Given the description of an element on the screen output the (x, y) to click on. 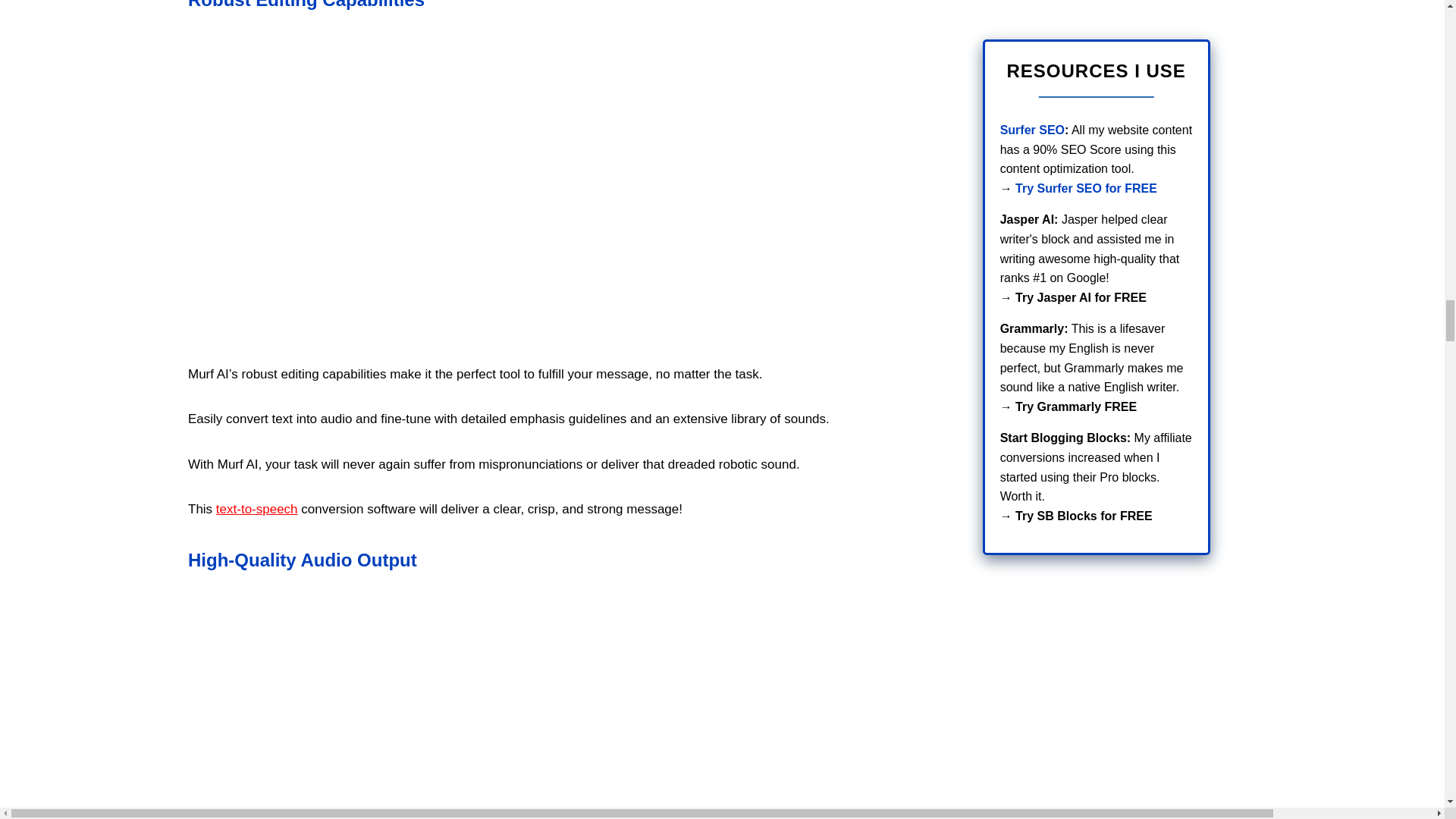
text-to-speech (256, 509)
